Given the description of an element on the screen output the (x, y) to click on. 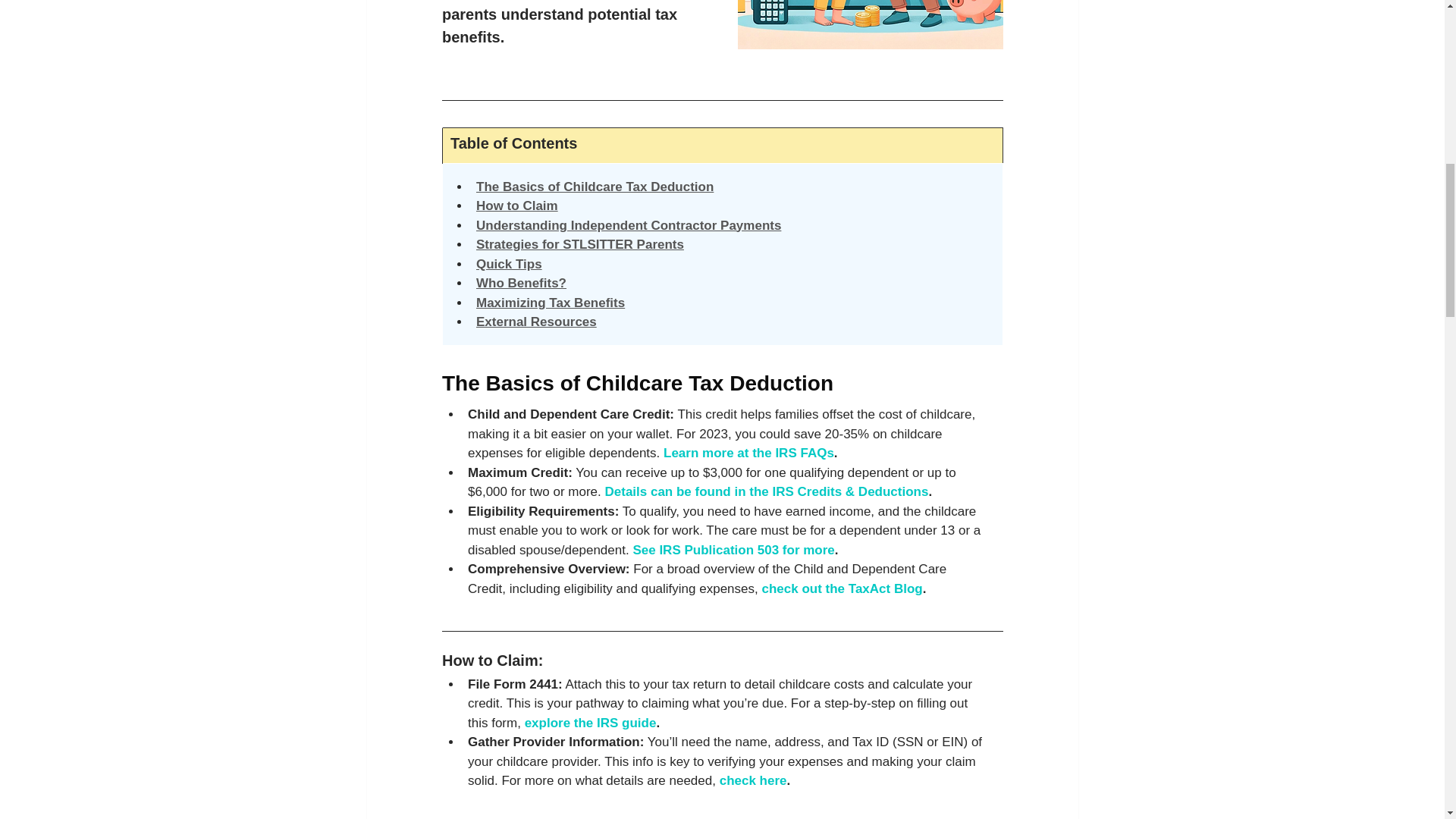
How to Claim (516, 205)
Understanding Independent Contractor Payments (628, 224)
The Basics of Childcare Tax Deduction (594, 186)
